Given the description of an element on the screen output the (x, y) to click on. 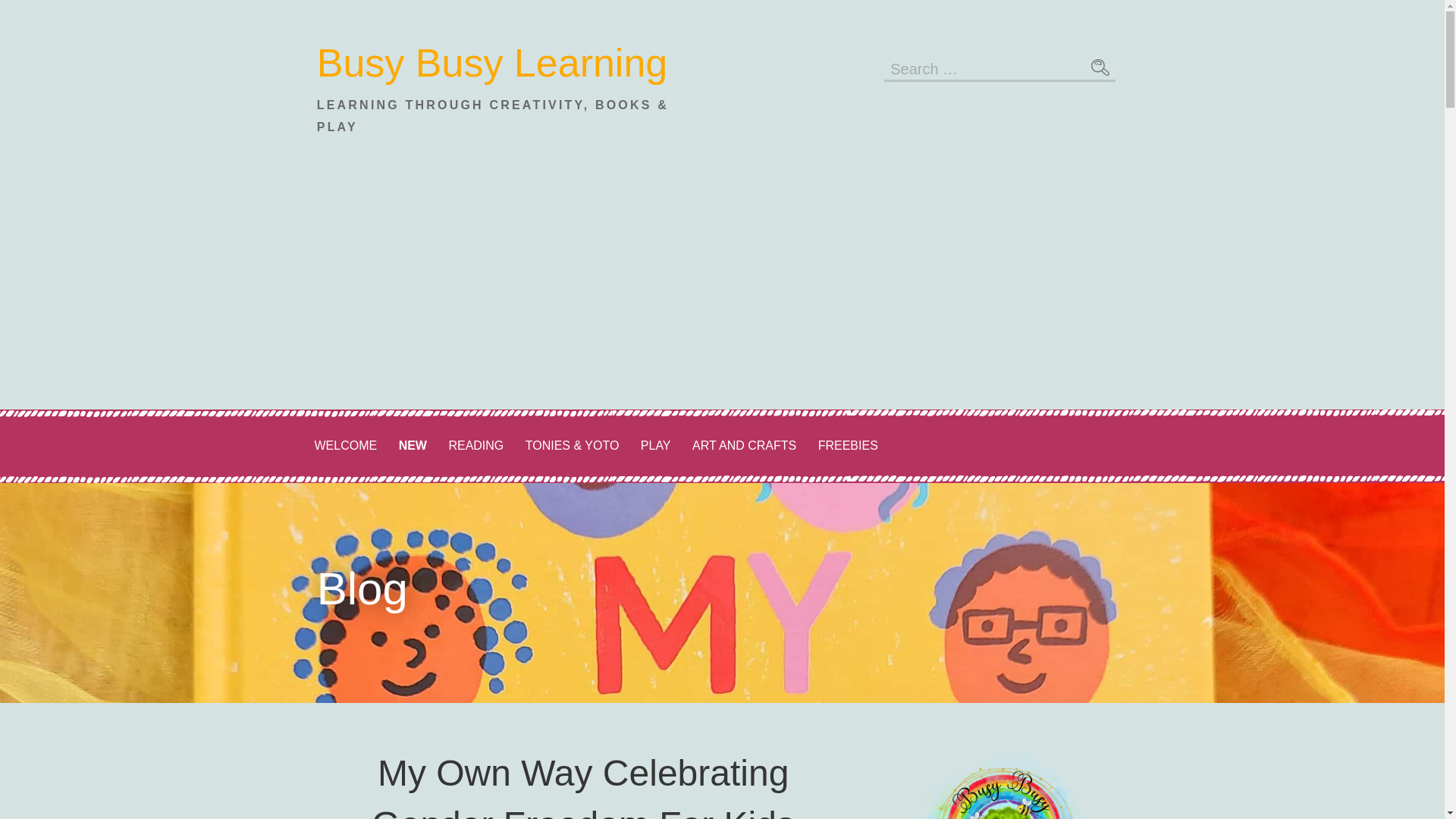
Search (1099, 67)
Search (1099, 67)
Busy Busy Learning (492, 62)
ART AND CRAFTS (743, 445)
Search (1099, 67)
READING (475, 445)
FREEBIES (847, 445)
WELCOME (344, 445)
